Given the description of an element on the screen output the (x, y) to click on. 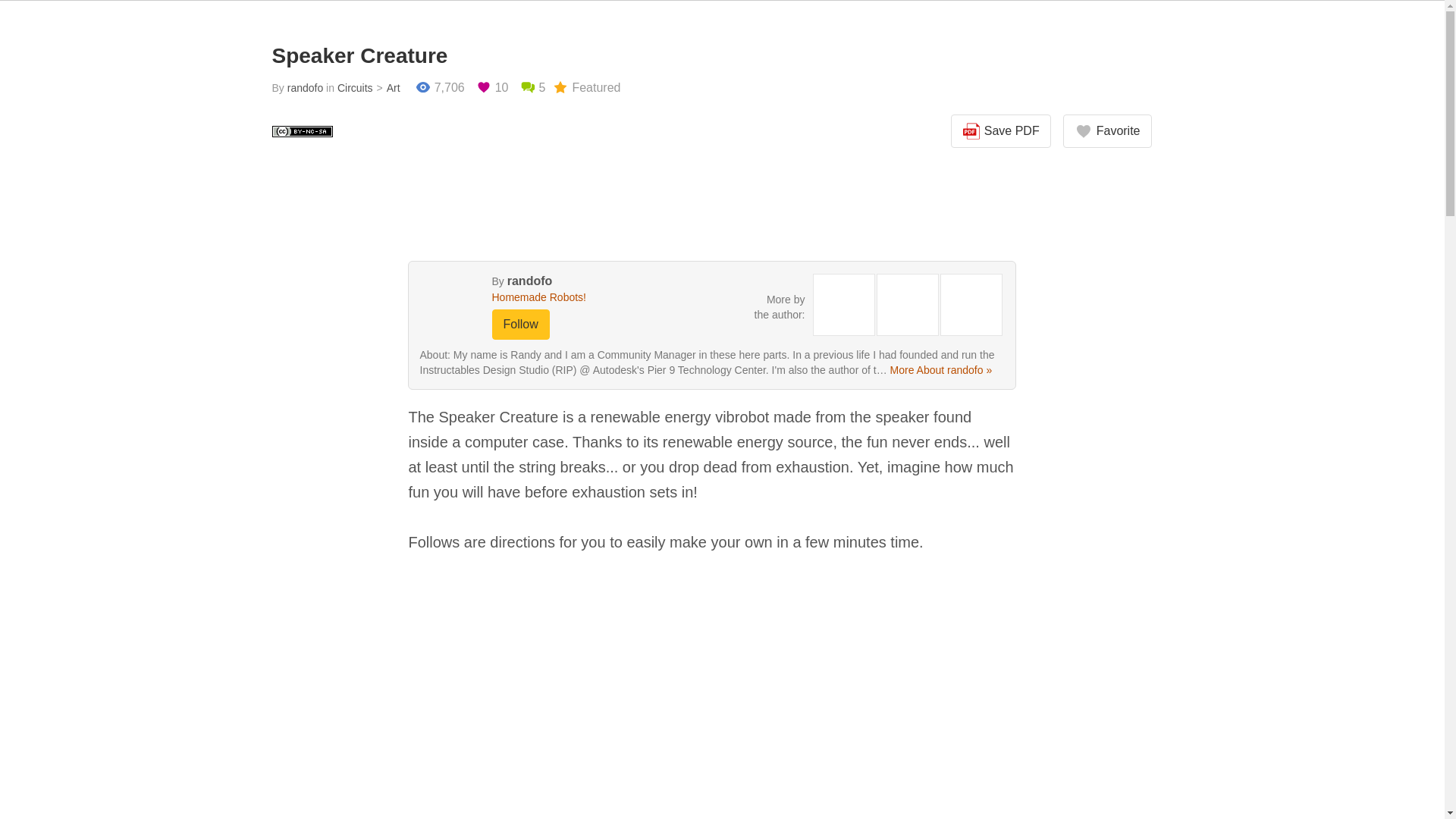
randofo (529, 280)
Save PDF (1000, 131)
randofo (304, 87)
Art (386, 87)
Favorite (1106, 131)
Follow (520, 324)
Circuits (354, 87)
5 (532, 87)
Homemade Robots! (570, 297)
